Given the description of an element on the screen output the (x, y) to click on. 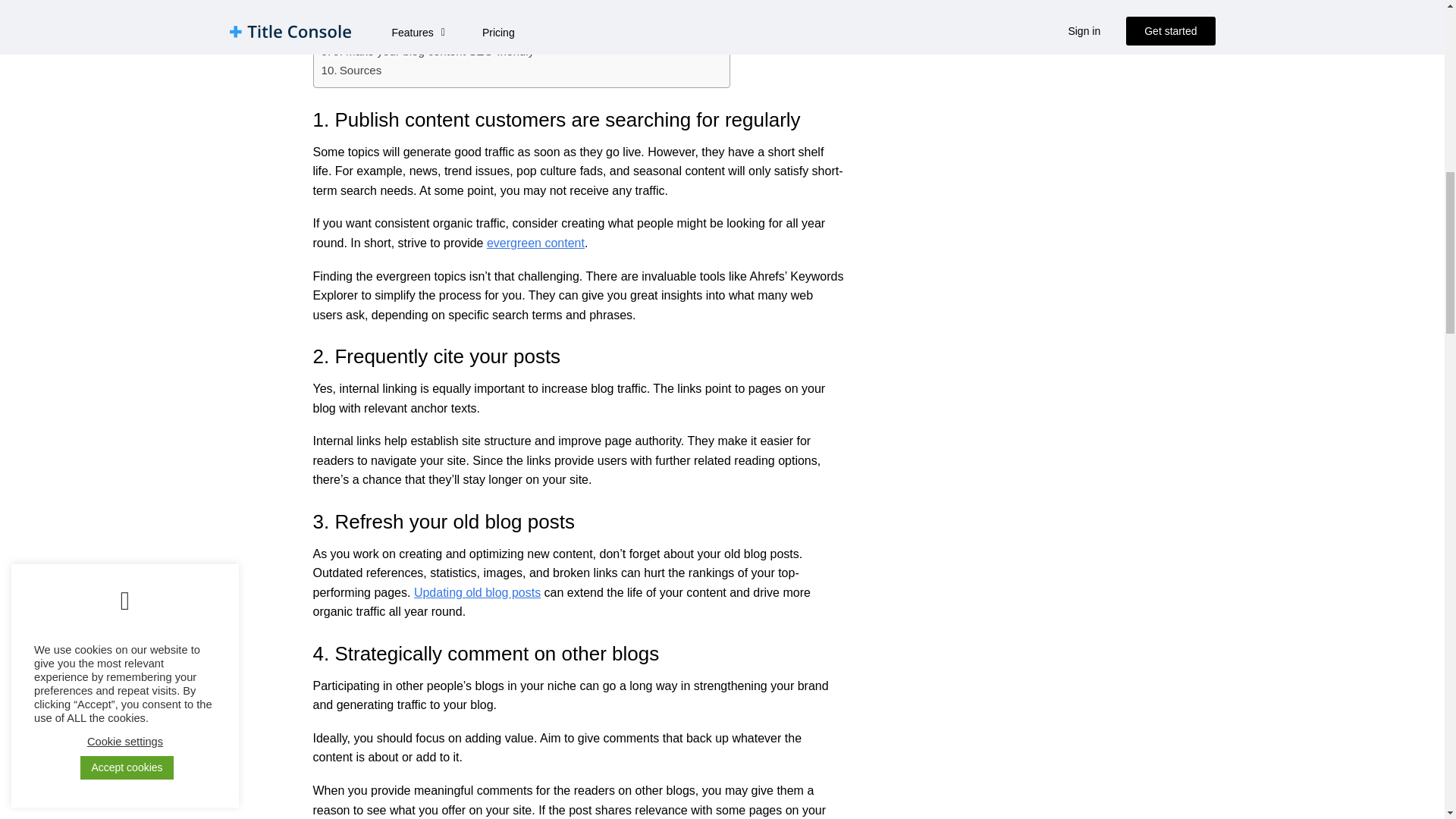
Updating old blog posts (476, 592)
9. Make your blog content SEO-friendly (427, 51)
Sources (351, 70)
7. Incorporate shareable images in your content (448, 14)
8. Build links (359, 33)
8. Build links (359, 33)
evergreen content (535, 242)
7. Incorporate shareable images in your content (448, 14)
Sources (351, 70)
9. Make your blog content SEO-friendly (427, 51)
